Given the description of an element on the screen output the (x, y) to click on. 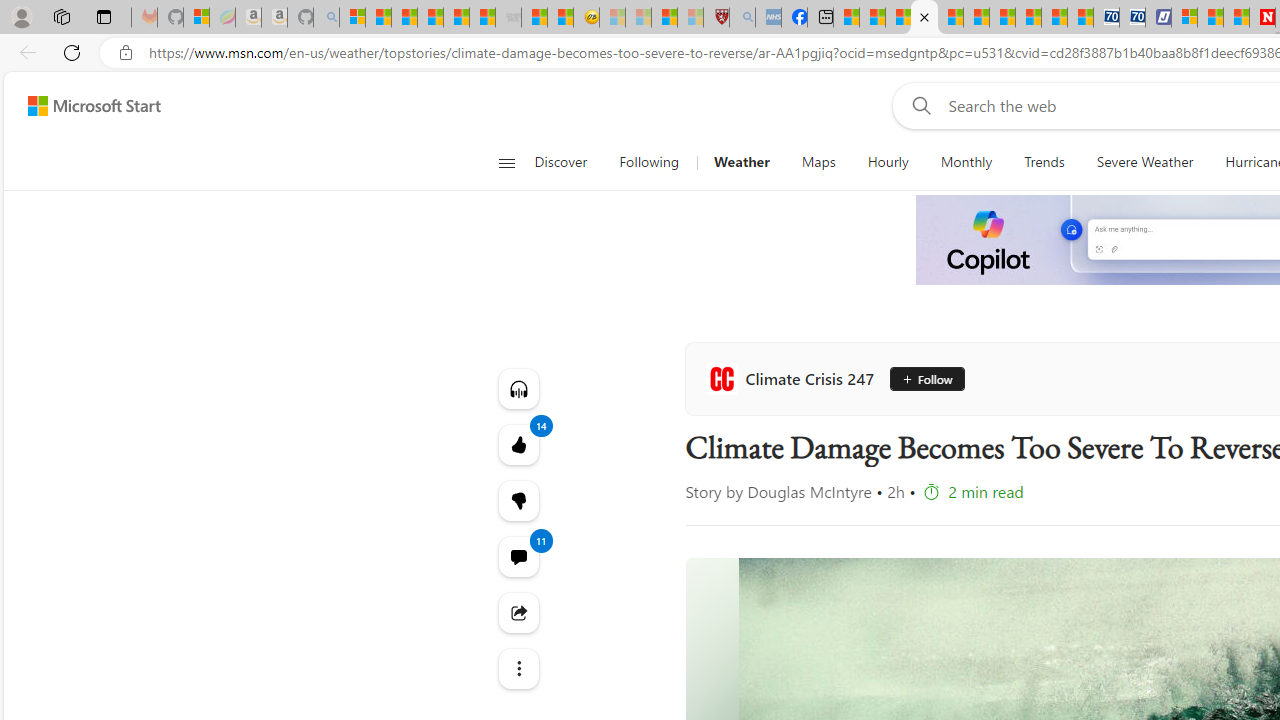
Trends (1044, 162)
Climate Damage Becomes Too Severe To Reverse (923, 17)
Monthly (966, 162)
14 (517, 500)
Combat Siege - Sleeping (507, 17)
Trends (1044, 162)
Hourly (887, 162)
